Given the description of an element on the screen output the (x, y) to click on. 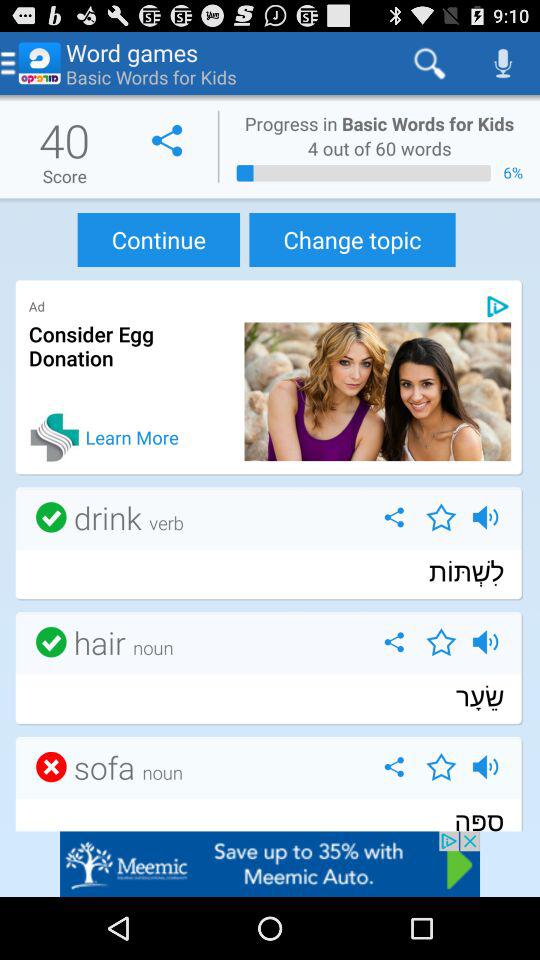
pop up advertisement (270, 864)
